Given the description of an element on the screen output the (x, y) to click on. 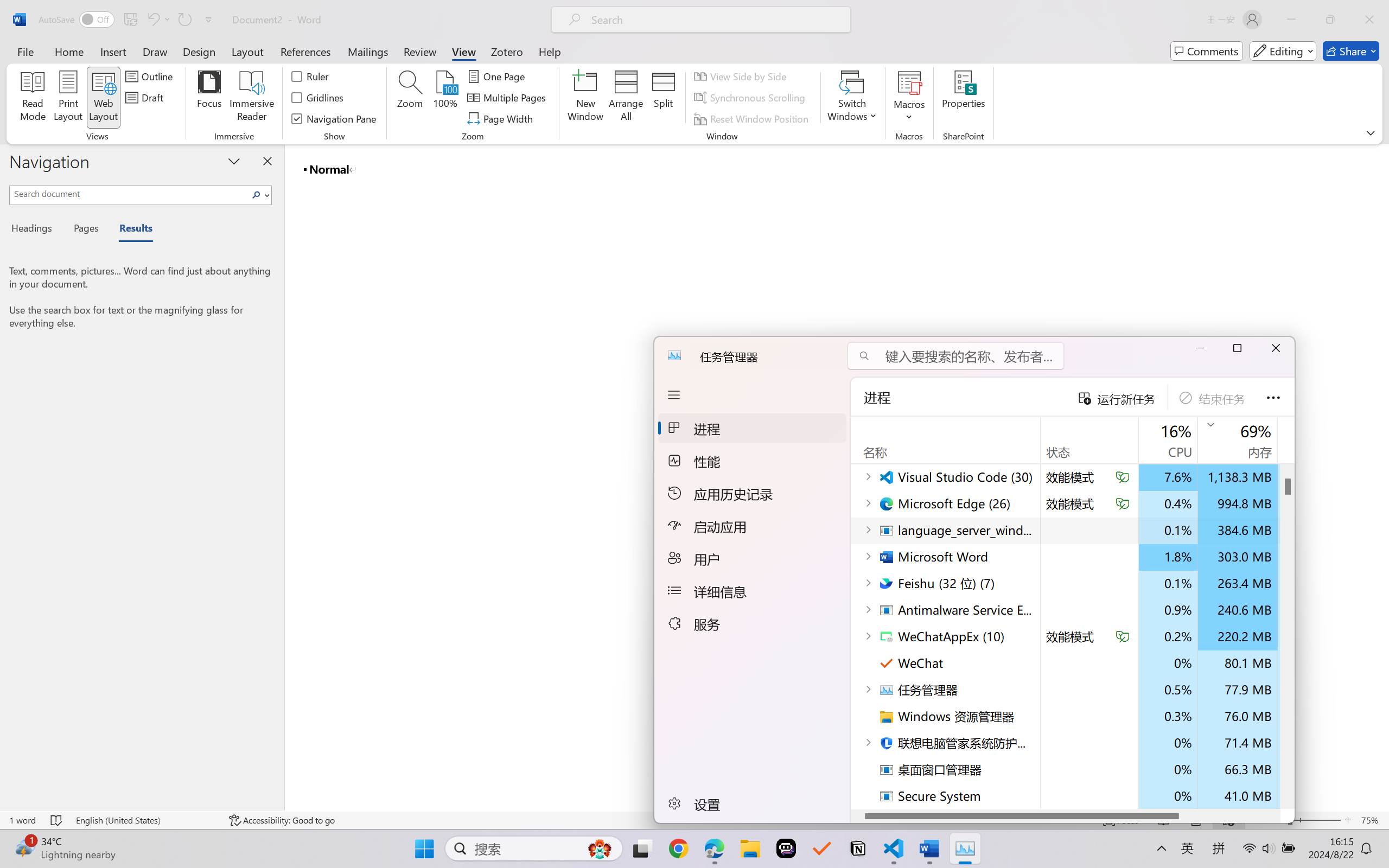
Ribbon Display Options (1370, 132)
Reset Window Position (752, 118)
Draft (146, 97)
New Window (585, 97)
Task Pane Options (233, 161)
100% (445, 97)
Pages (85, 229)
Word Count 1 word (21, 819)
Headings (35, 229)
